Given the description of an element on the screen output the (x, y) to click on. 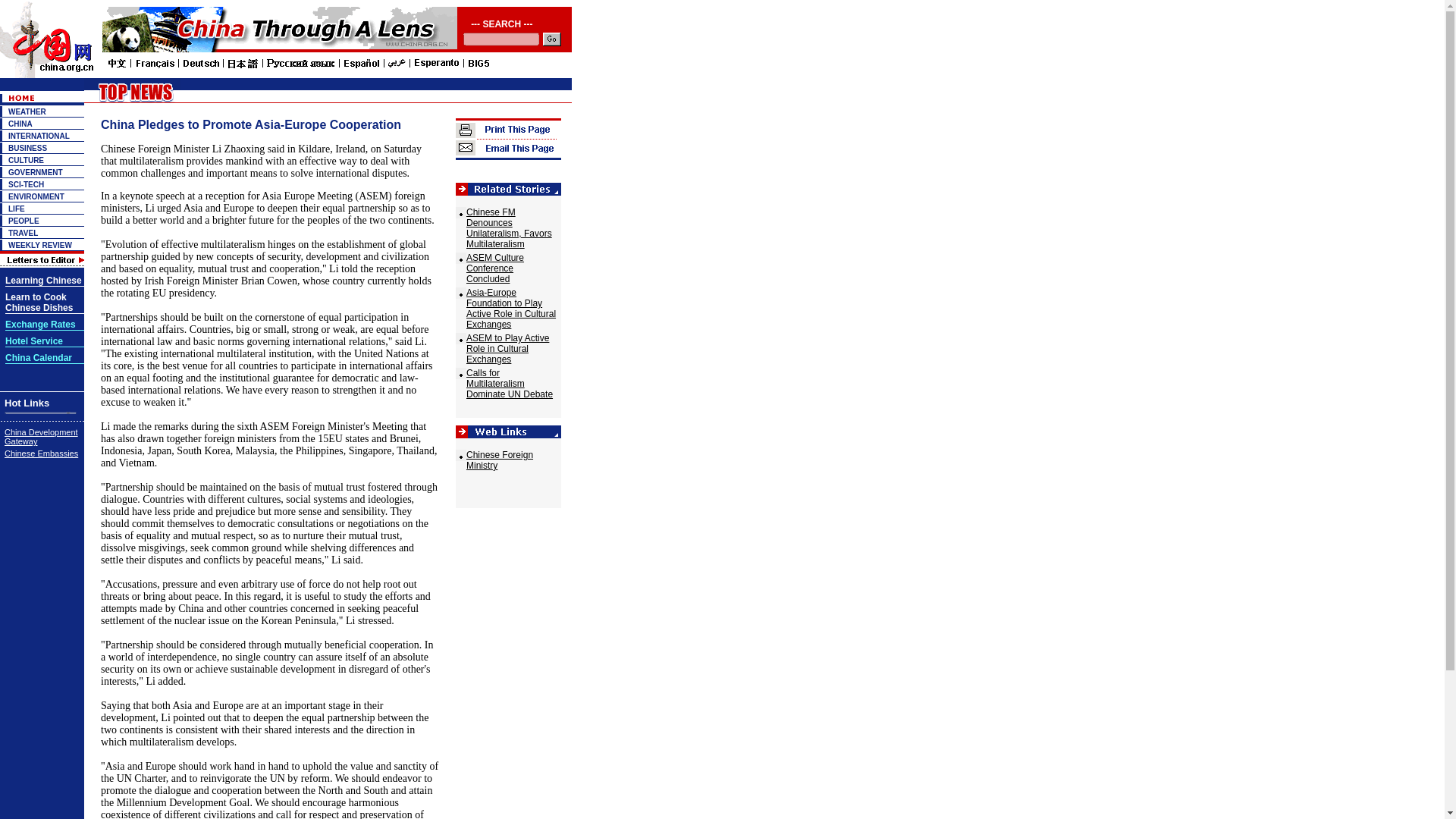
ENVIRONMENT (36, 196)
China Calendar (38, 357)
CULTURE (25, 160)
WEEKLY REVIEW (39, 244)
BUSINESS (27, 148)
Chinese Embassies (41, 452)
Learning Chinese (43, 280)
PEOPLE (23, 221)
ASEM to Play Active Role in Cultural Exchanges (506, 348)
Chinese FM Denounces Unilateralism, Favors Multilateralism (508, 228)
